Given the description of an element on the screen output the (x, y) to click on. 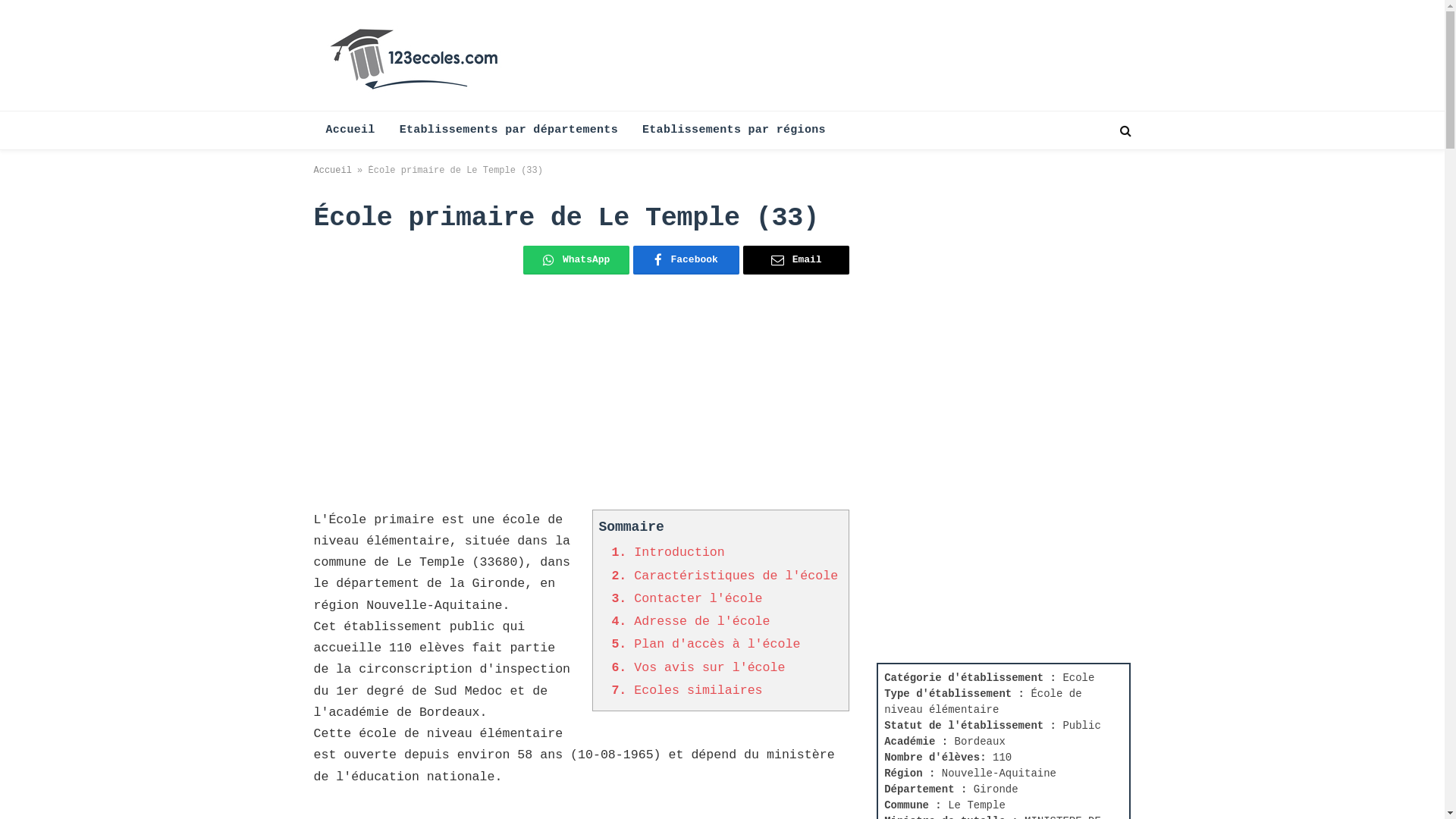
7. Ecoles similaires Element type: text (686, 690)
Recherche Element type: hover (1124, 130)
Advertisement Element type: hover (990, 429)
1. Introduction Element type: text (667, 552)
Accueil Element type: text (350, 130)
WhatsApp Element type: text (576, 259)
123ecoles.com Element type: hover (416, 55)
Accueil Element type: text (332, 170)
Email Element type: text (796, 259)
Facebook Element type: text (686, 259)
Advertisement Element type: hover (581, 403)
